Given the description of an element on the screen output the (x, y) to click on. 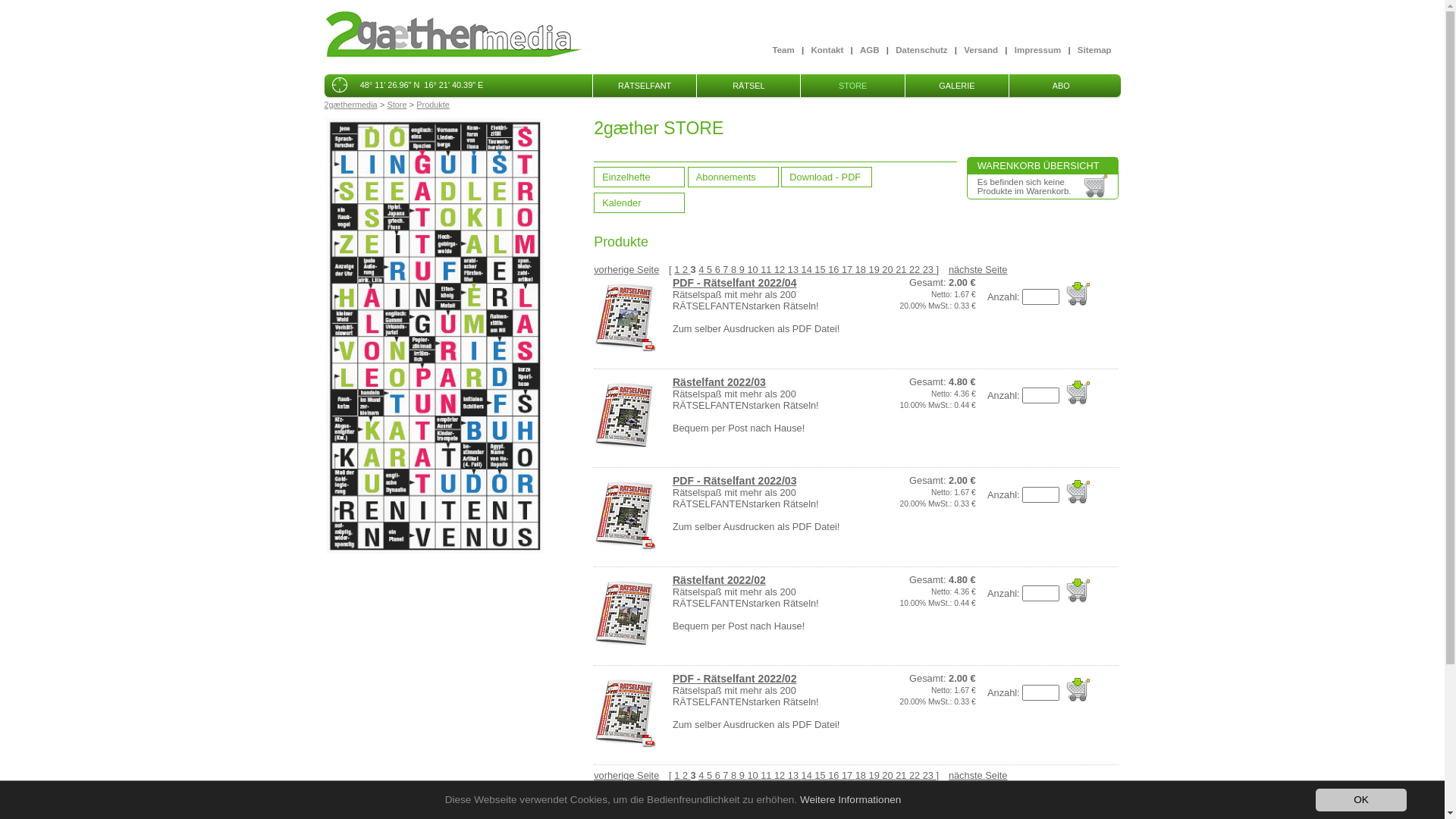
Einzelhefte Element type: text (638, 176)
17 Element type: text (848, 269)
18 Element type: text (862, 269)
20 Element type: text (888, 775)
6 Element type: text (719, 269)
15 Element type: text (821, 775)
Produkte Element type: text (432, 104)
8 Element type: text (735, 775)
4 Element type: text (702, 775)
17 Element type: text (848, 775)
Artikel in den Warenkorb legen Element type: hover (1078, 294)
4 Element type: text (702, 269)
Download - PDF Element type: text (826, 176)
1 Element type: text (678, 775)
ABO Element type: text (1060, 85)
12 Element type: text (780, 269)
5 Element type: text (710, 269)
11 Element type: text (767, 775)
12 Element type: text (780, 775)
Team Element type: text (783, 49)
7 Element type: text (726, 775)
Kalender Element type: text (638, 202)
Sitemap Element type: text (1094, 49)
GALERIE Element type: text (956, 85)
Kontakt Element type: text (826, 49)
Weitere Informationen Element type: text (850, 799)
5 Element type: text (710, 775)
Artikel in den Warenkorb legen Element type: hover (1078, 392)
16 Element type: text (834, 775)
6 Element type: text (719, 775)
Artikel in den Warenkorb legen Element type: hover (1078, 689)
19 Element type: text (875, 269)
8 Element type: text (735, 269)
Impressum Element type: text (1037, 49)
18 Element type: text (862, 775)
13 Element type: text (794, 775)
22 Element type: text (915, 269)
AGB Element type: text (869, 49)
11 Element type: text (767, 269)
9 Element type: text (743, 269)
23 Element type: text (929, 775)
16 Element type: text (834, 269)
21 Element type: text (902, 775)
10 Element type: text (753, 269)
20 Element type: text (888, 269)
Datenschutz Element type: text (921, 49)
STORE Element type: text (851, 85)
13 Element type: text (794, 269)
9 Element type: text (743, 775)
21 Element type: text (902, 269)
19 Element type: text (875, 775)
Store Element type: text (396, 104)
23 Element type: text (929, 269)
Artikel in den Warenkorb legen Element type: hover (1078, 492)
2 Element type: text (686, 269)
vorherige Seite Element type: text (625, 269)
14 Element type: text (808, 269)
1 Element type: text (678, 269)
10 Element type: text (753, 775)
2 Element type: text (686, 775)
15 Element type: text (821, 269)
22 Element type: text (915, 775)
vorherige Seite Element type: text (625, 775)
Versand Element type: text (980, 49)
7 Element type: text (726, 269)
Abonnements Element type: text (732, 176)
OK Element type: text (1360, 799)
Artikel in den Warenkorb legen Element type: hover (1078, 590)
14 Element type: text (808, 775)
